Given the description of an element on the screen output the (x, y) to click on. 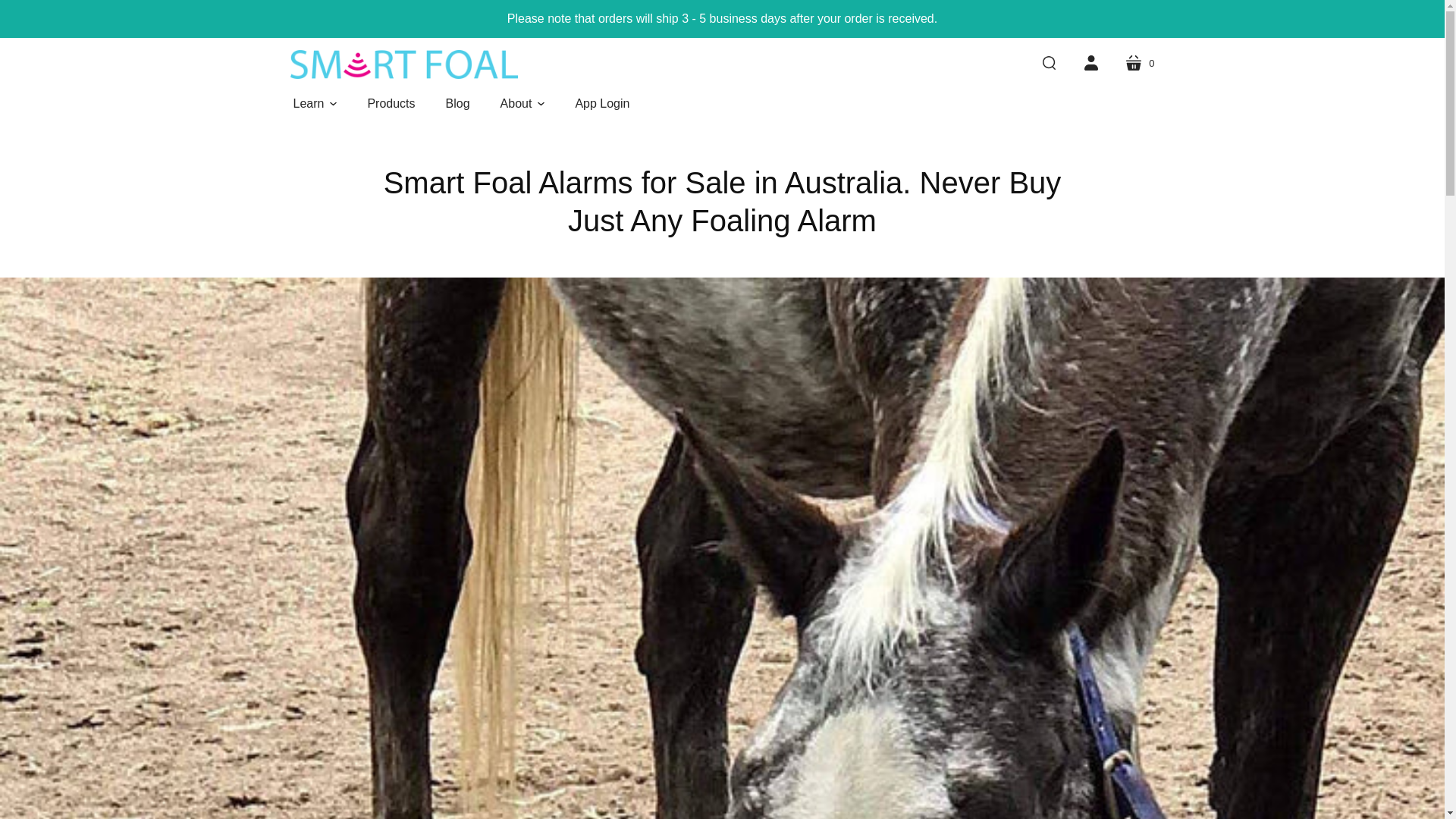
Products (390, 103)
App Login (602, 103)
Blog (1139, 62)
account (457, 103)
search (1091, 62)
